Given the description of an element on the screen output the (x, y) to click on. 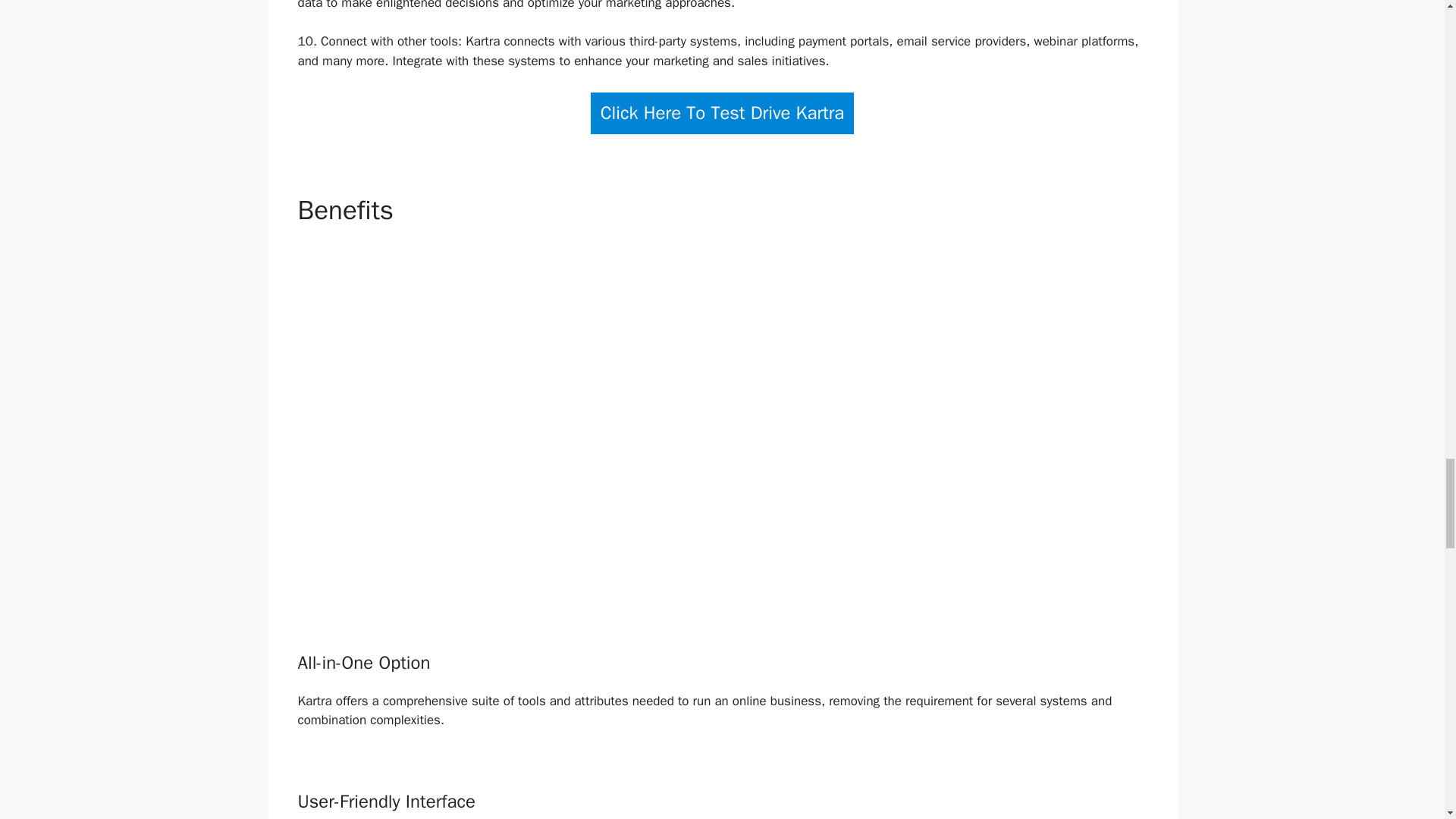
Click Here To Test Drive Kartra (722, 113)
